Given the description of an element on the screen output the (x, y) to click on. 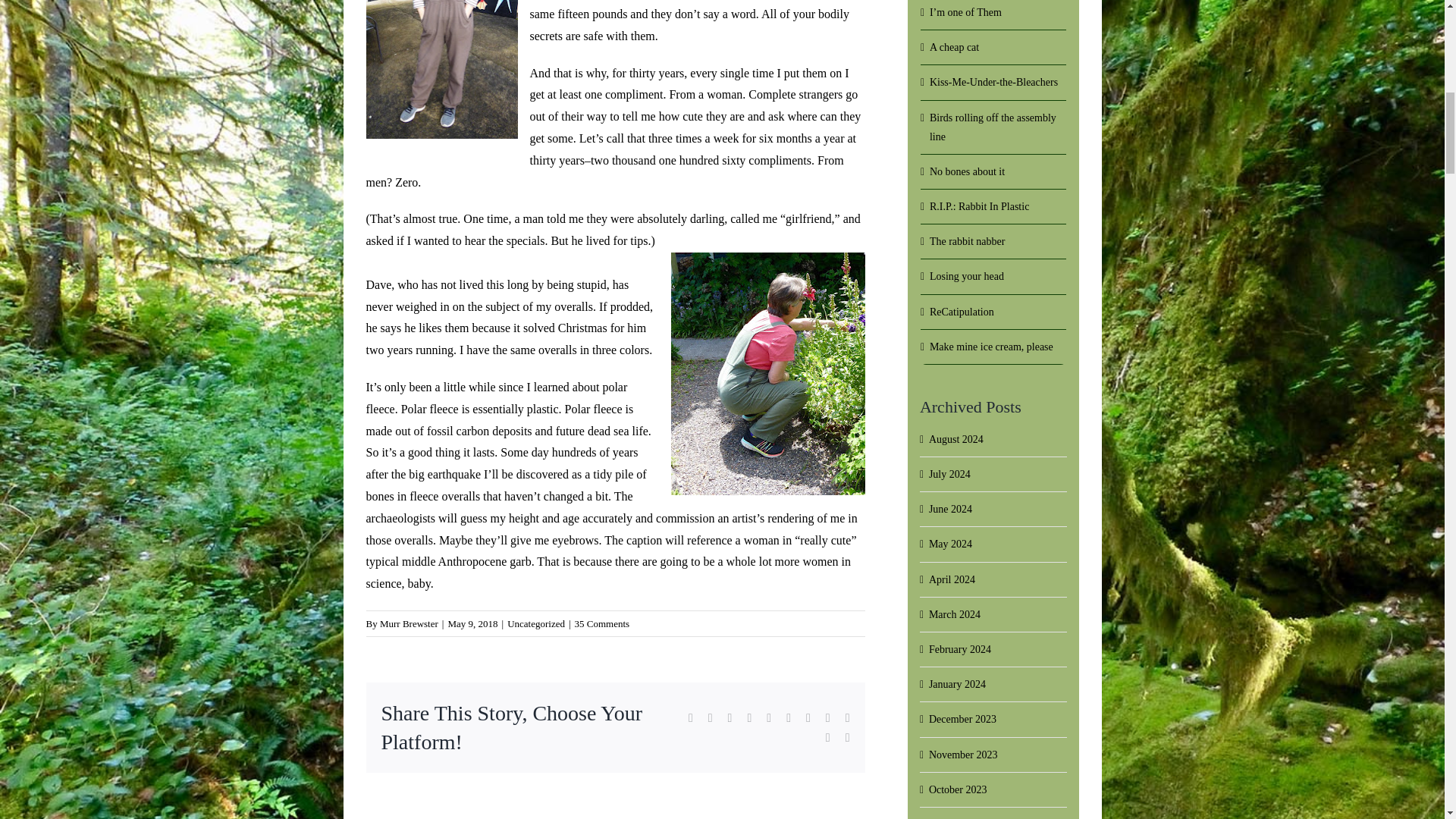
Murr Brewster (409, 623)
35 Comments (602, 623)
Posts by Murr Brewster (409, 623)
Uncategorized (535, 623)
